Given the description of an element on the screen output the (x, y) to click on. 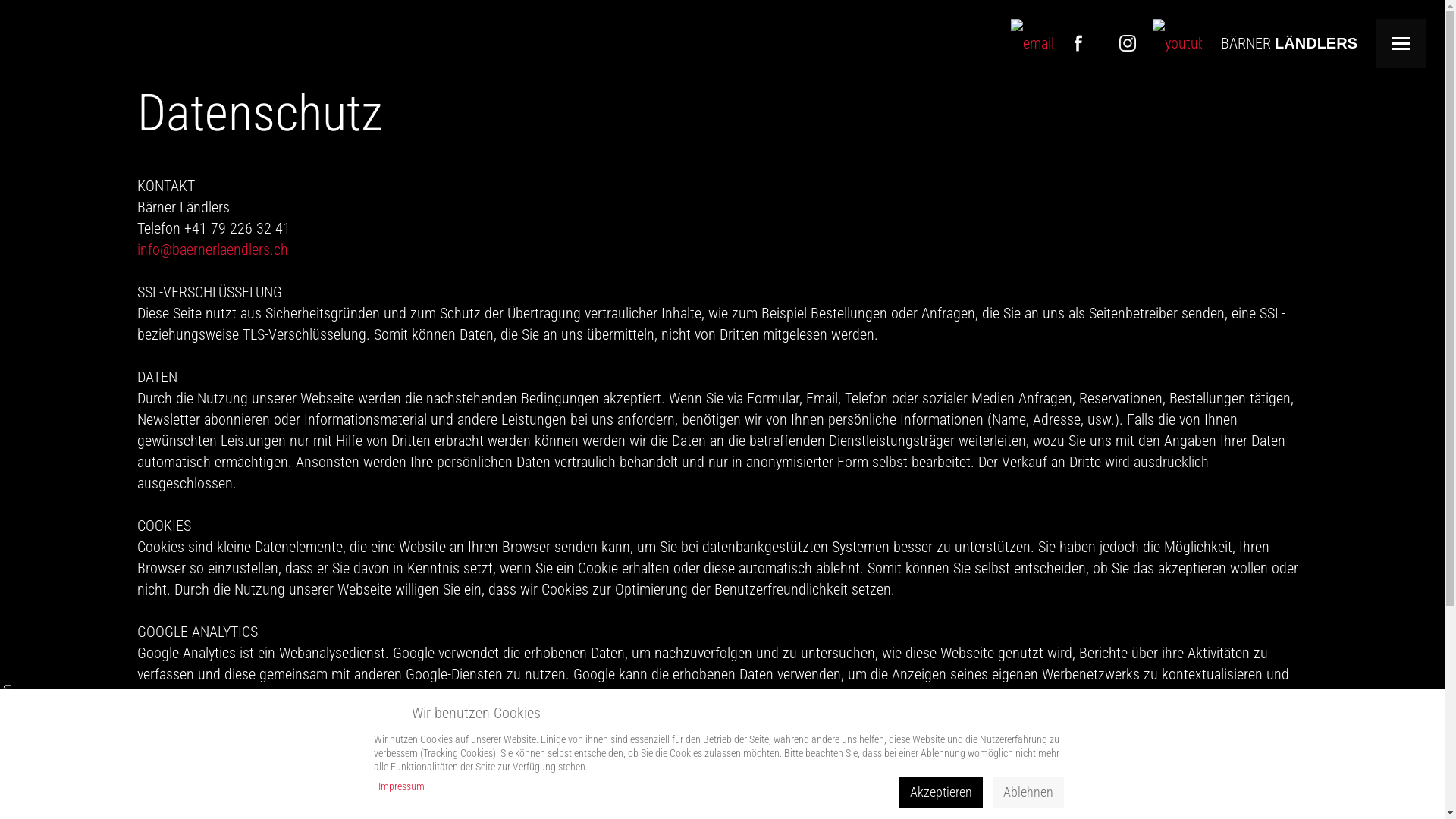
Impressum Element type: text (400, 785)
Ablehnen Element type: text (1027, 792)
Akzeptieren Element type: text (940, 792)
info@baernerlaendlers.ch Element type: text (212, 249)
